Given the description of an element on the screen output the (x, y) to click on. 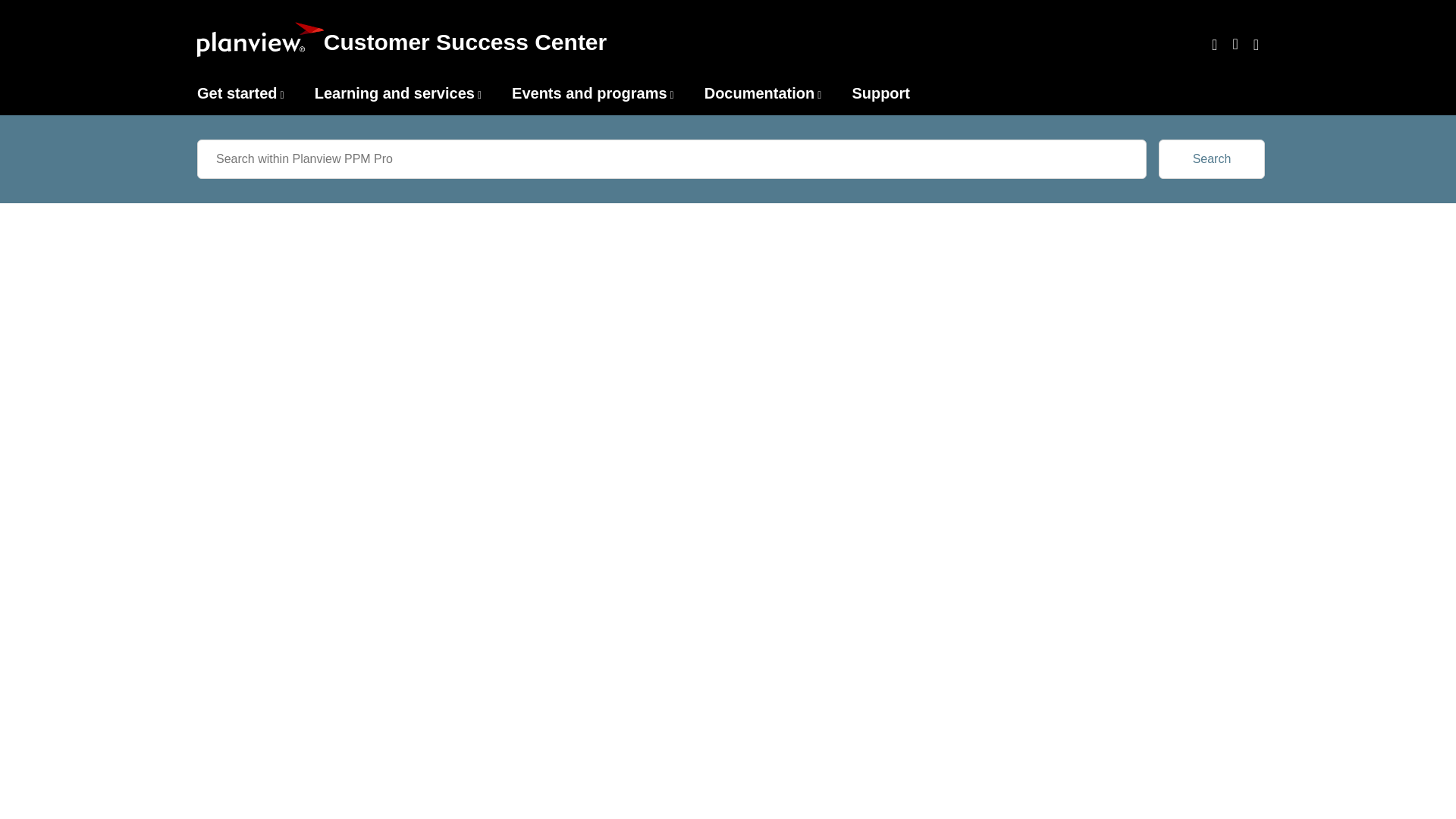
Get started (237, 93)
Documentation (759, 93)
Events and programs (589, 93)
Learning and services (394, 93)
